Given the description of an element on the screen output the (x, y) to click on. 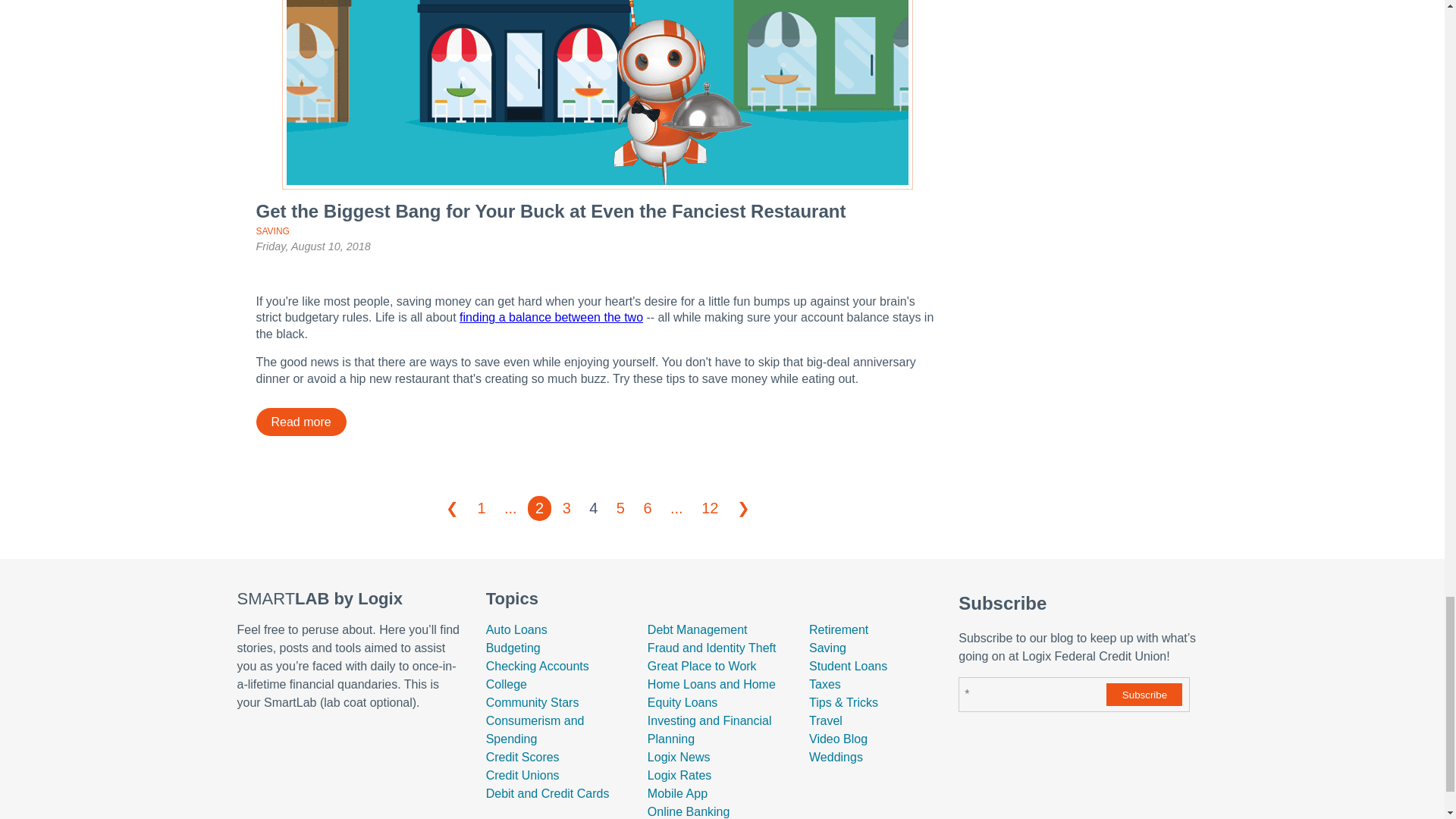
Subscribe (1144, 694)
